Given the description of an element on the screen output the (x, y) to click on. 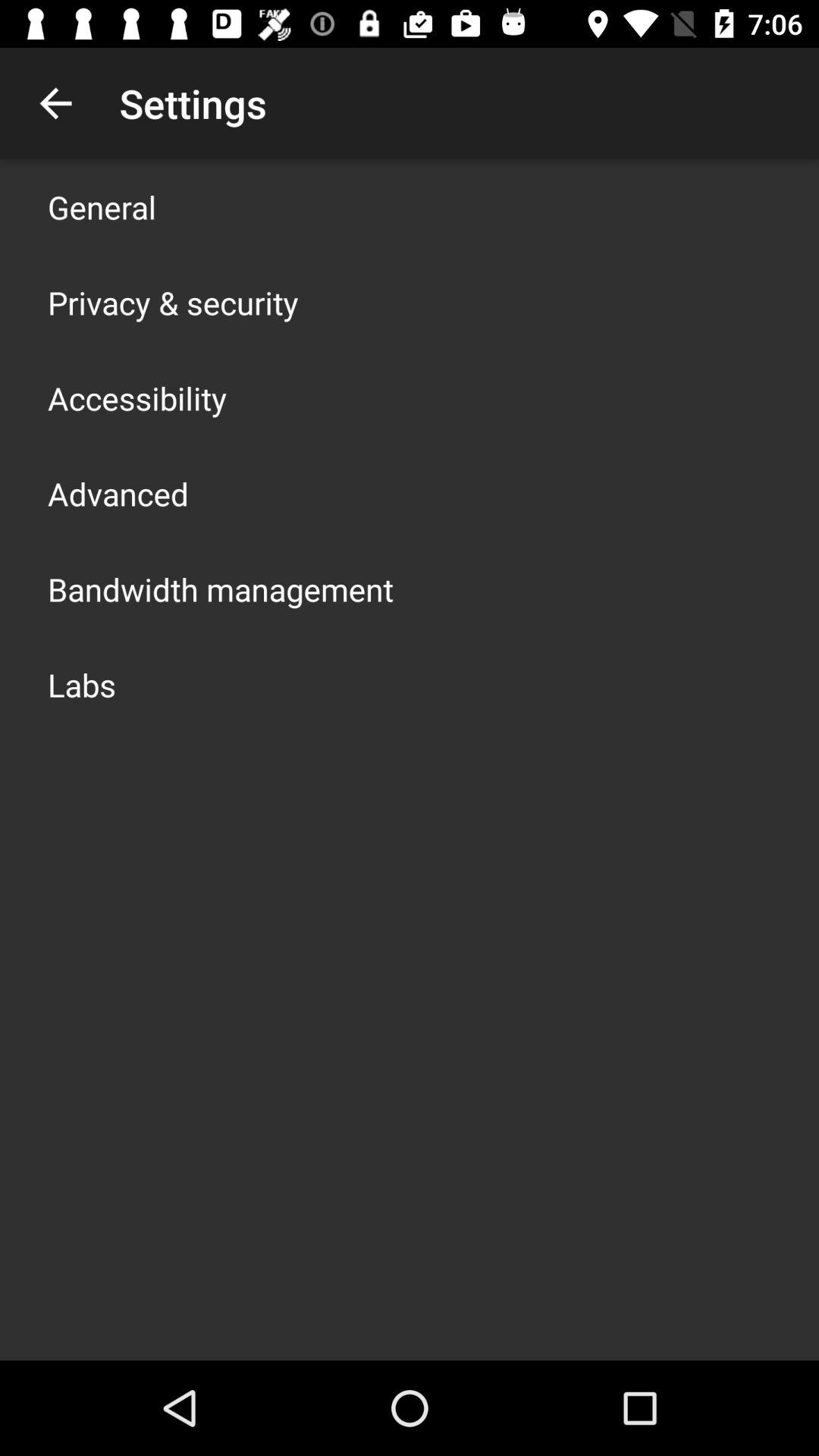
click icon next to settings item (55, 103)
